Given the description of an element on the screen output the (x, y) to click on. 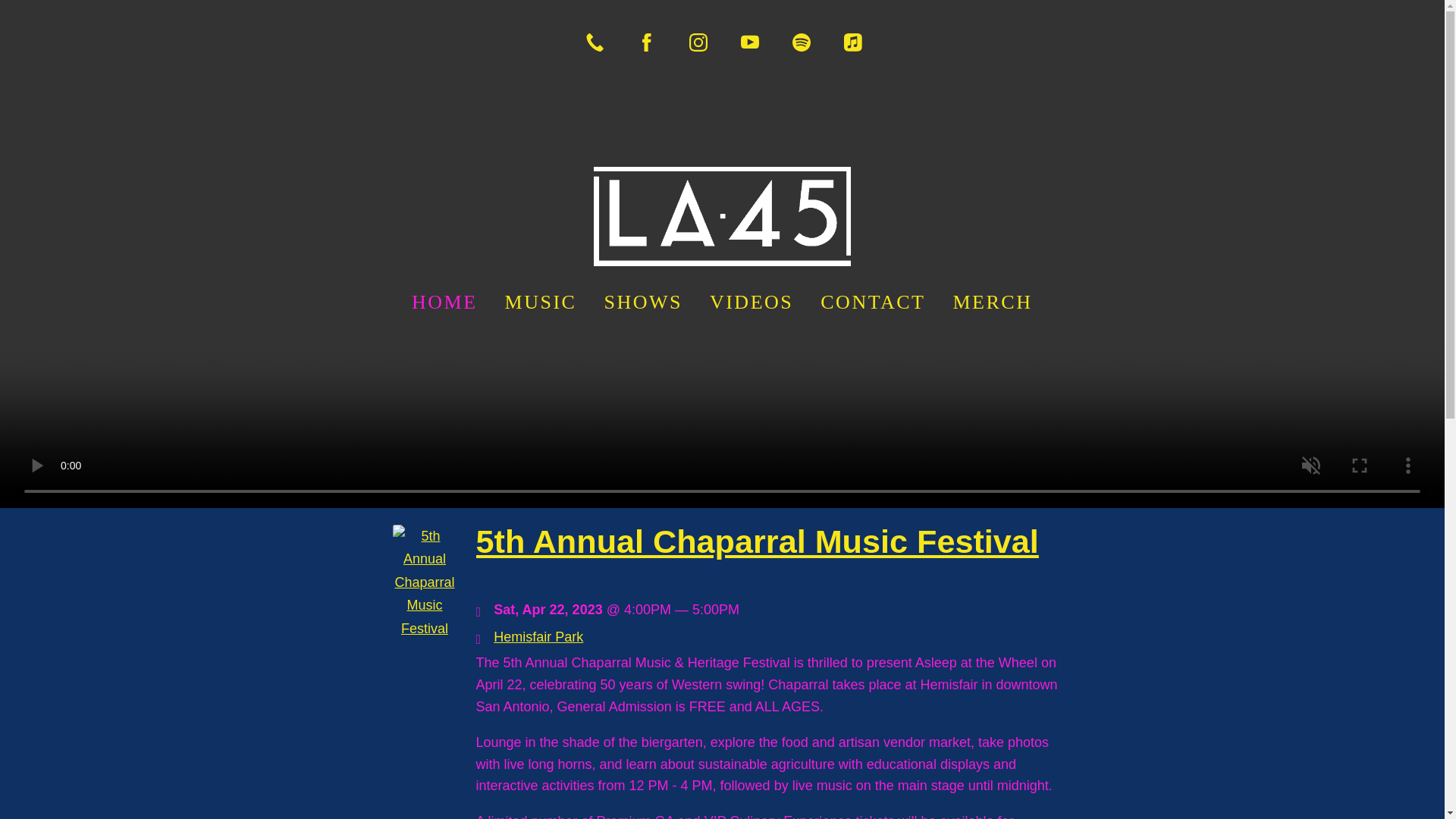
VIDEOS (751, 302)
SHOWS (643, 302)
MERCH (992, 302)
5th Annual Chaparral Music Festival (757, 541)
Hemisfair Park (538, 636)
5th Annual Chaparral Music Festival (425, 628)
MUSIC (540, 302)
HOME (444, 302)
CONTACT (873, 302)
Visit venue website (538, 636)
